Given the description of an element on the screen output the (x, y) to click on. 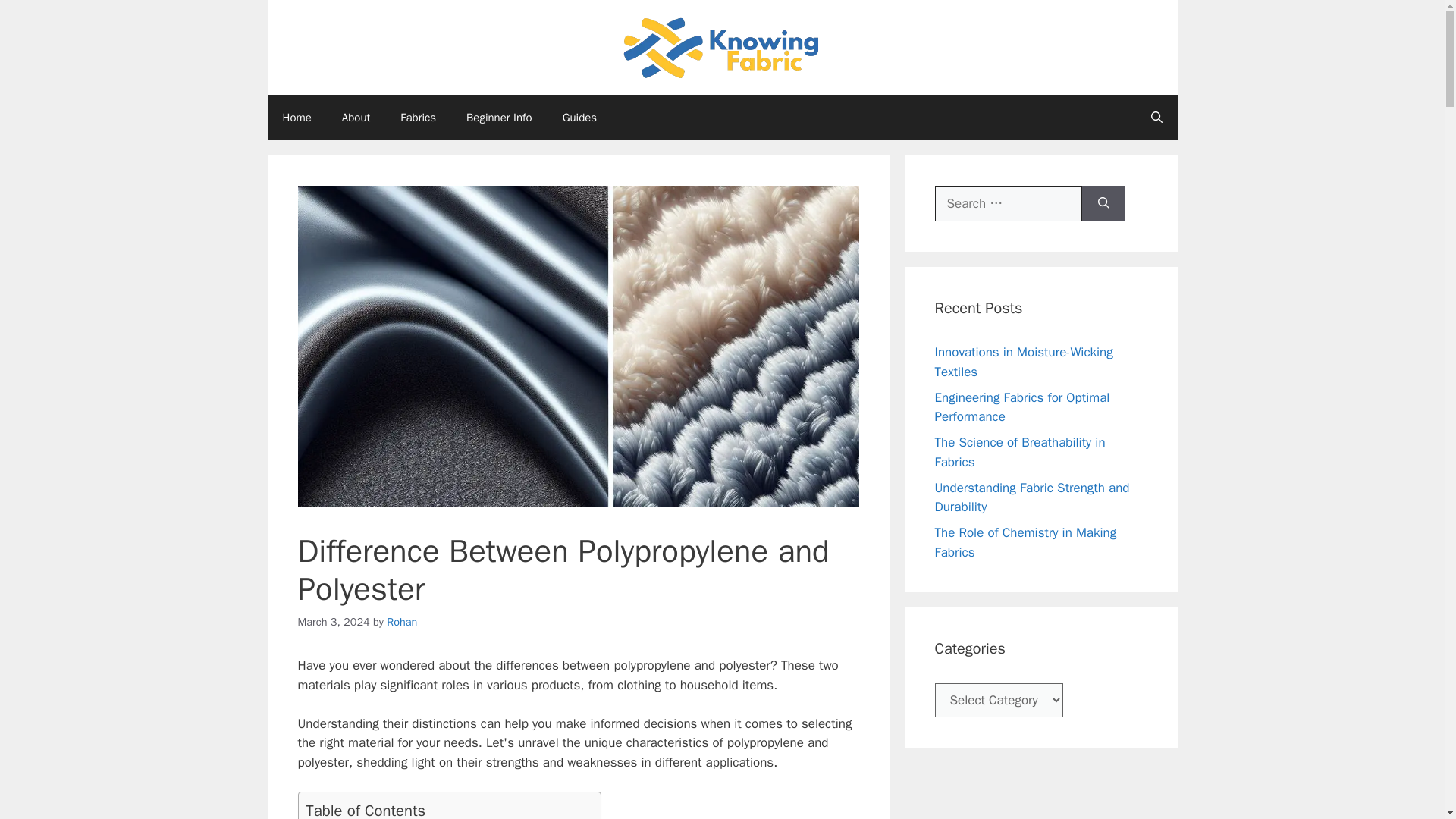
Fabrics (418, 117)
About (355, 117)
Guides (579, 117)
Rohan (401, 621)
View all posts by Rohan (401, 621)
Beginner Info (499, 117)
Home (296, 117)
